Given the description of an element on the screen output the (x, y) to click on. 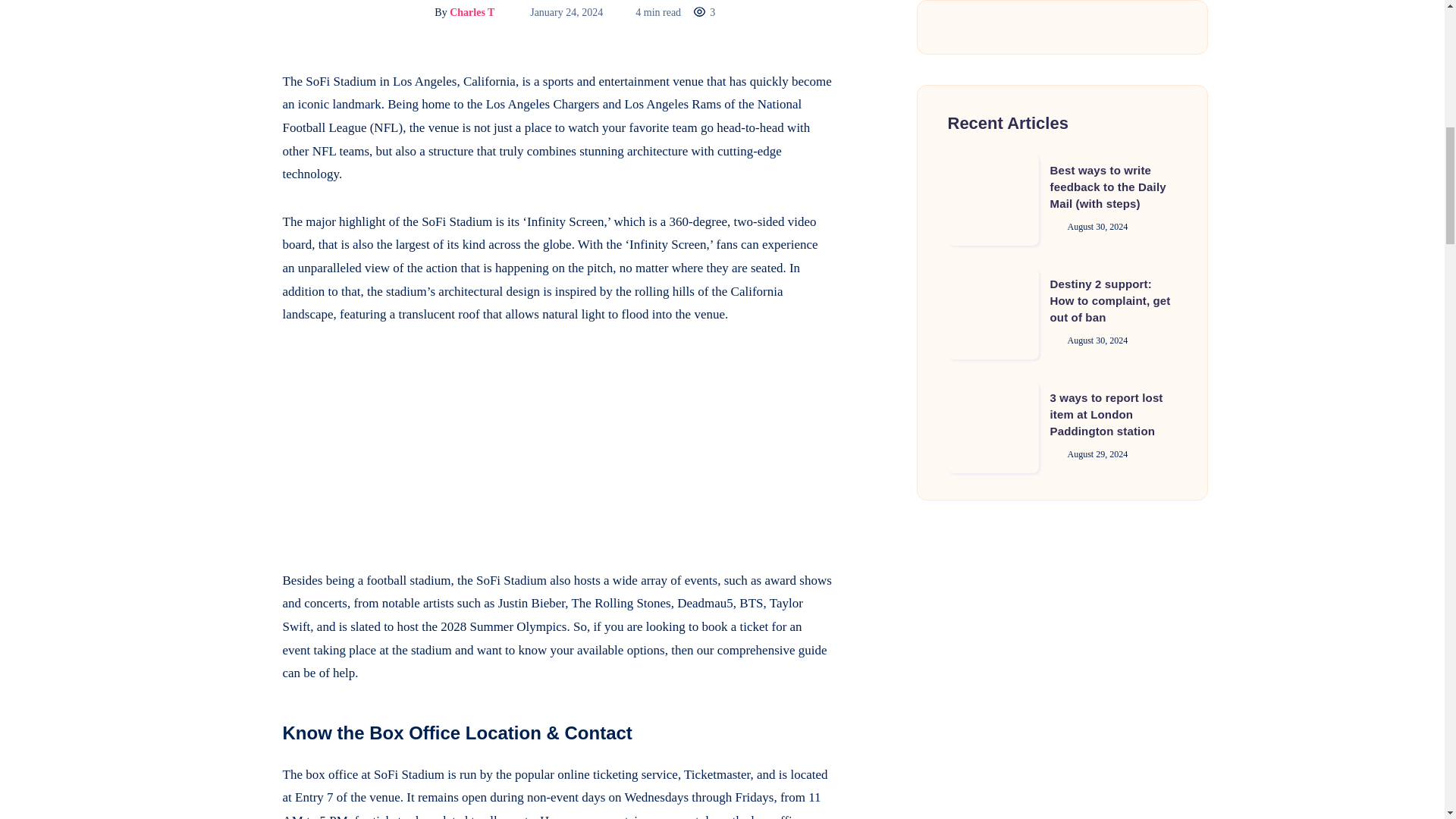
3 Views (704, 12)
By Charles T (448, 12)
Share on Pinterest (244, 150)
Share on Telegram (244, 183)
Share on Twitter (244, 115)
Share on Facebook (244, 81)
Share on Whatsapp (244, 218)
